Given the description of an element on the screen output the (x, y) to click on. 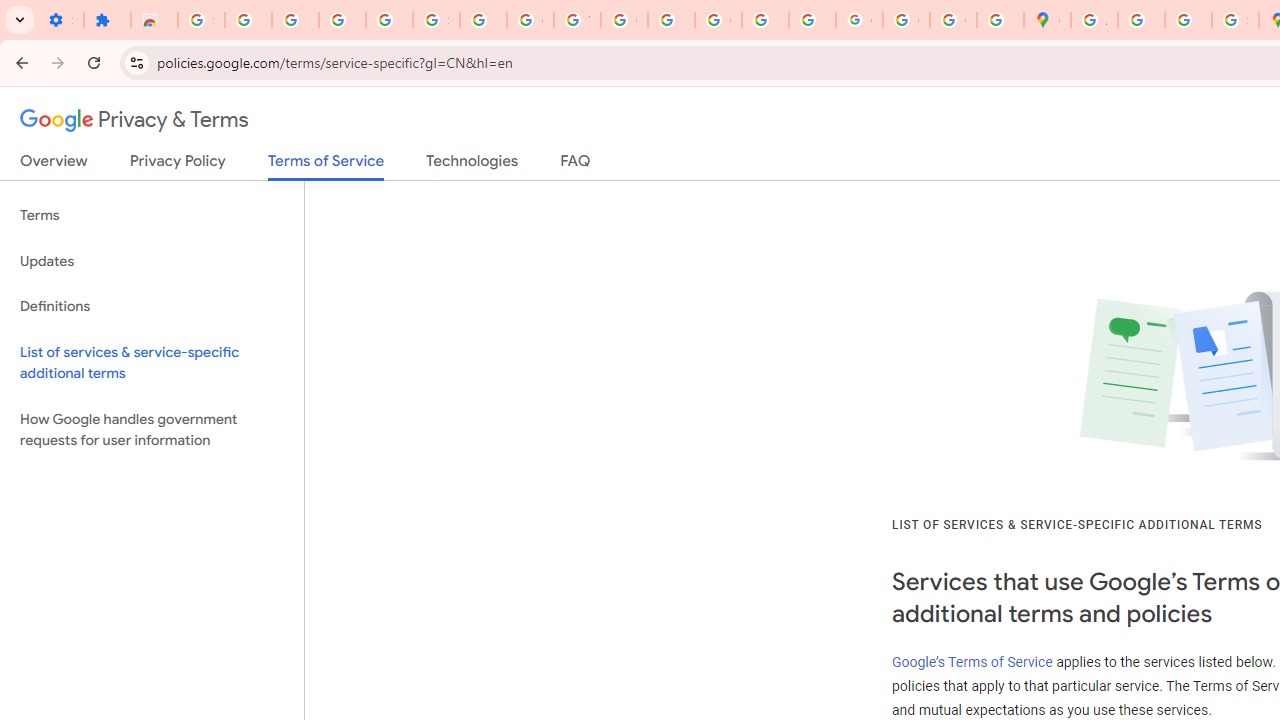
Definitions (152, 306)
Delete photos & videos - Computer - Google Photos Help (294, 20)
Sign in - Google Accounts (436, 20)
How Google handles government requests for user information (152, 429)
